Given the description of an element on the screen output the (x, y) to click on. 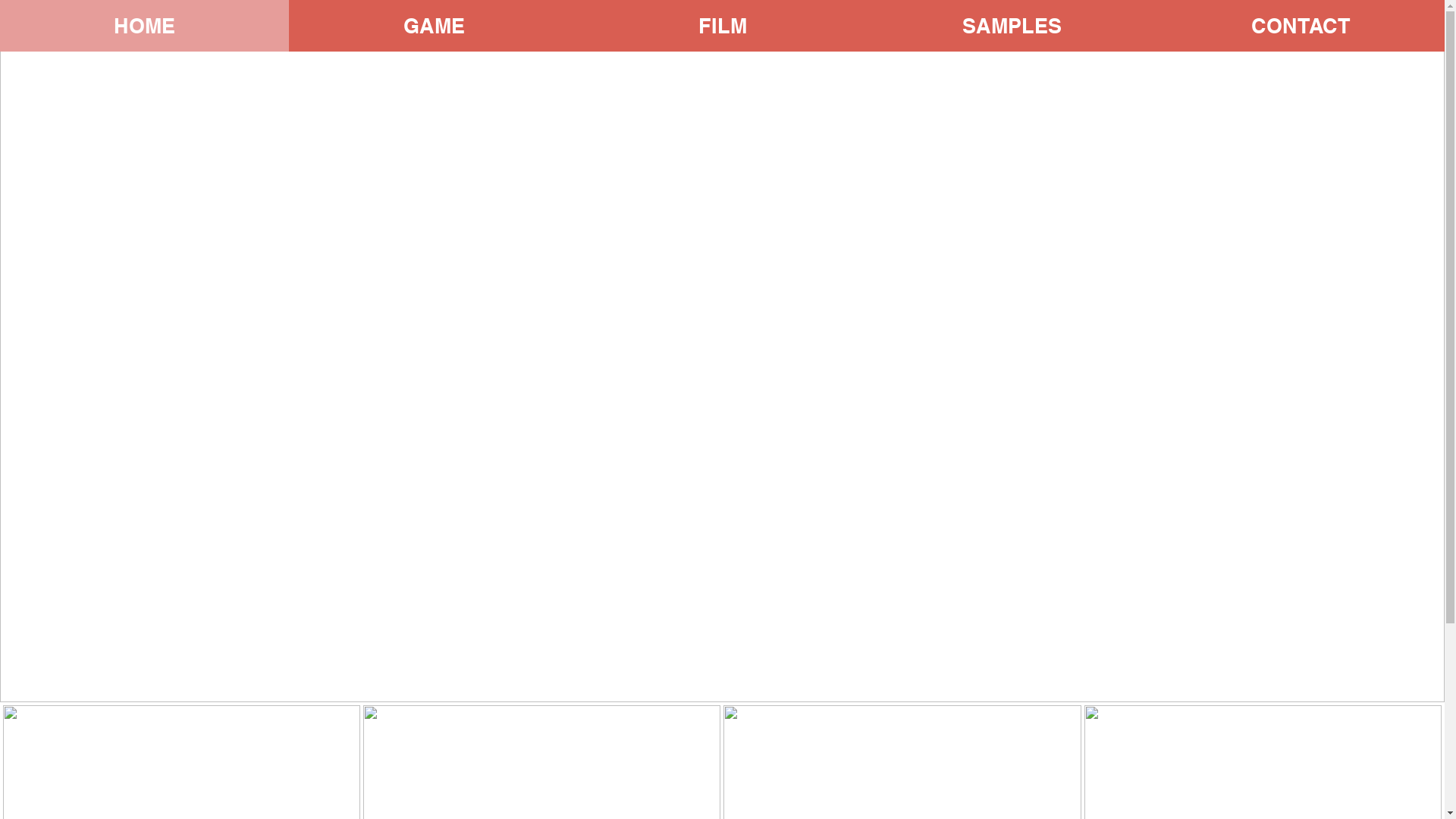
SAMPLES Element type: text (1010, 25)
GAME Element type: text (432, 25)
FILM Element type: text (721, 25)
CONTACT Element type: text (1299, 25)
HOME Element type: text (144, 25)
